Given the description of an element on the screen output the (x, y) to click on. 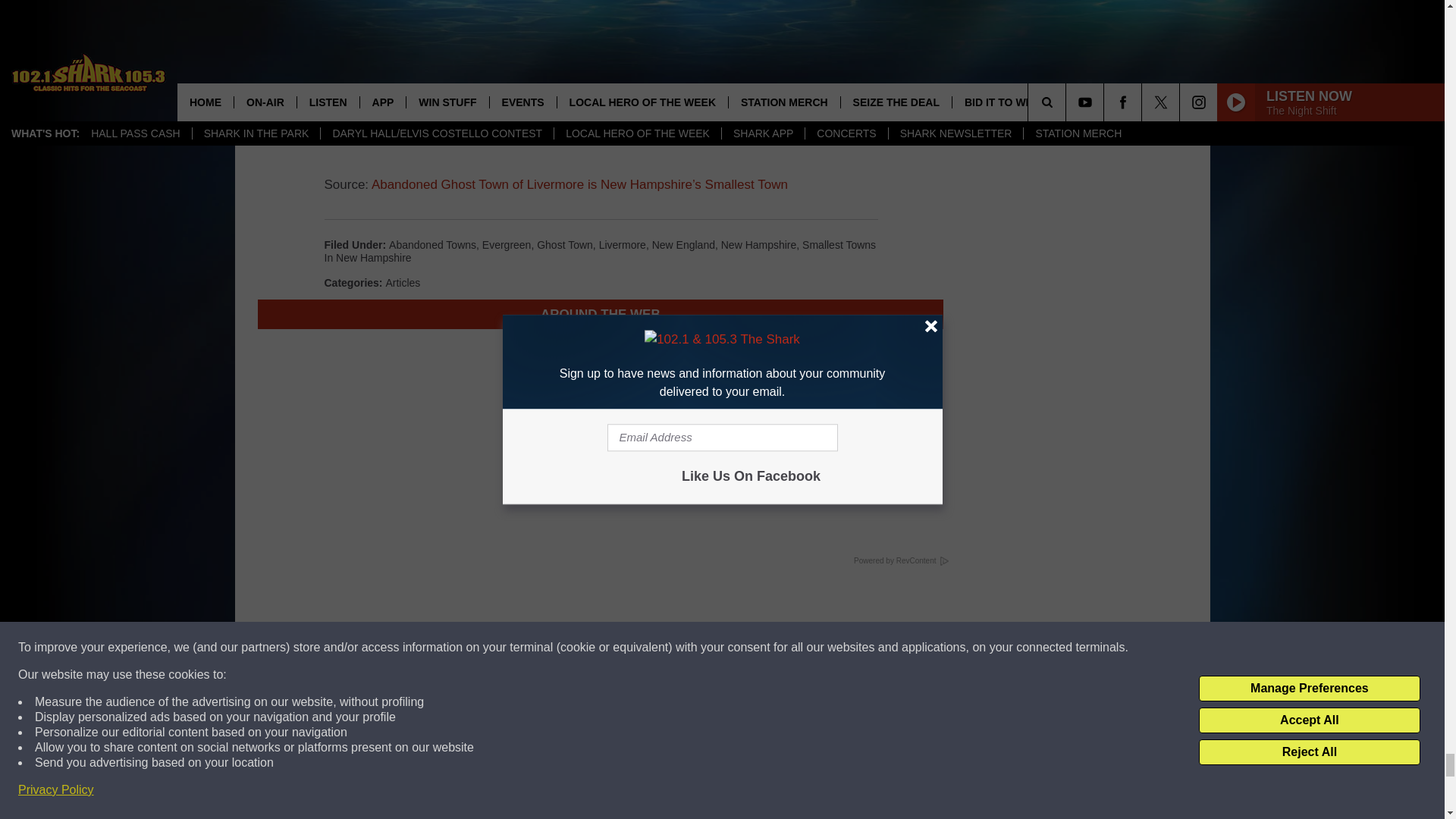
YouTube video player (600, 65)
